Given the description of an element on the screen output the (x, y) to click on. 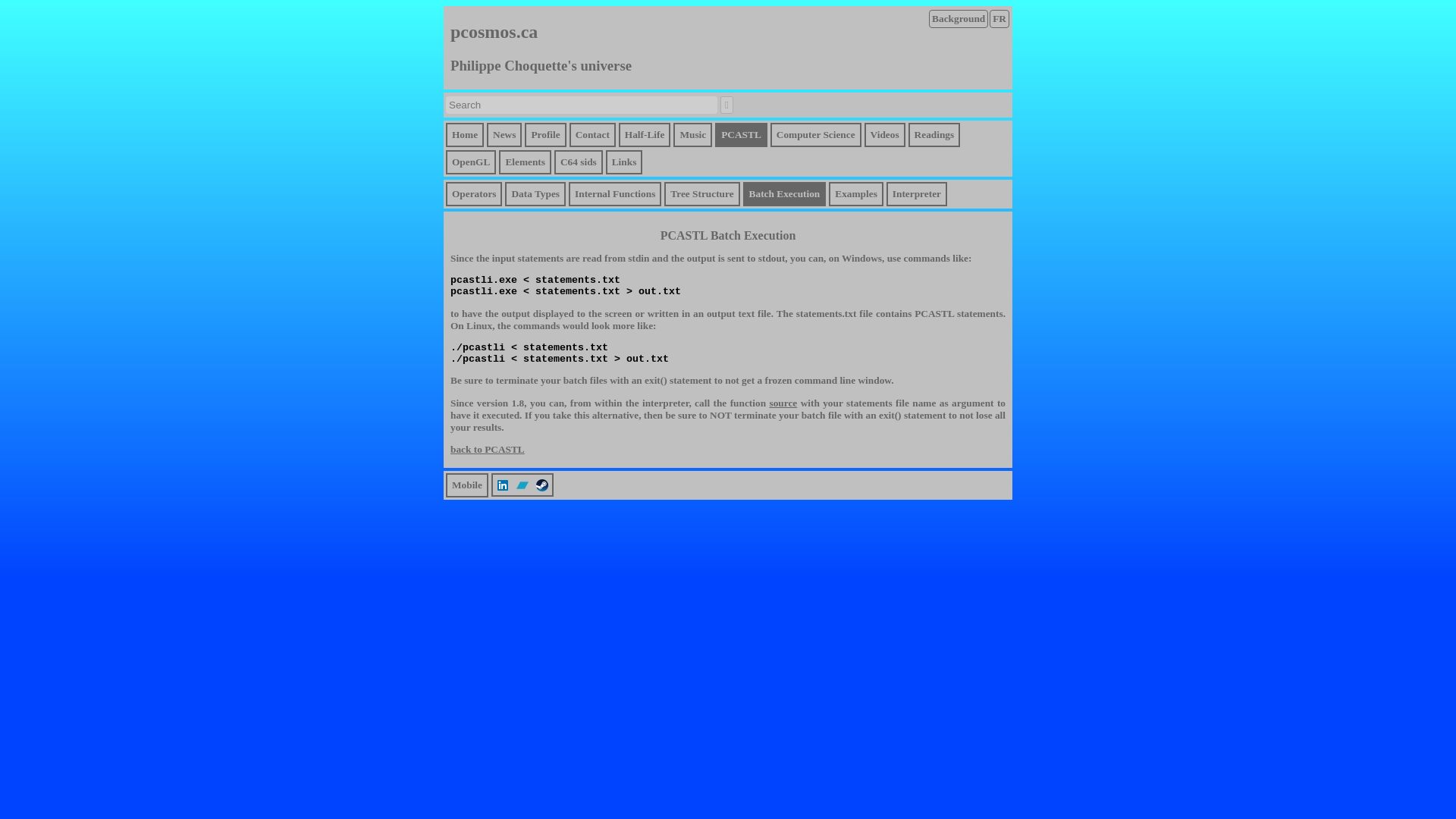
Change background color (958, 18)
back to PCASTL (486, 449)
Background (958, 18)
source (782, 402)
FR (999, 18)
